Given the description of an element on the screen output the (x, y) to click on. 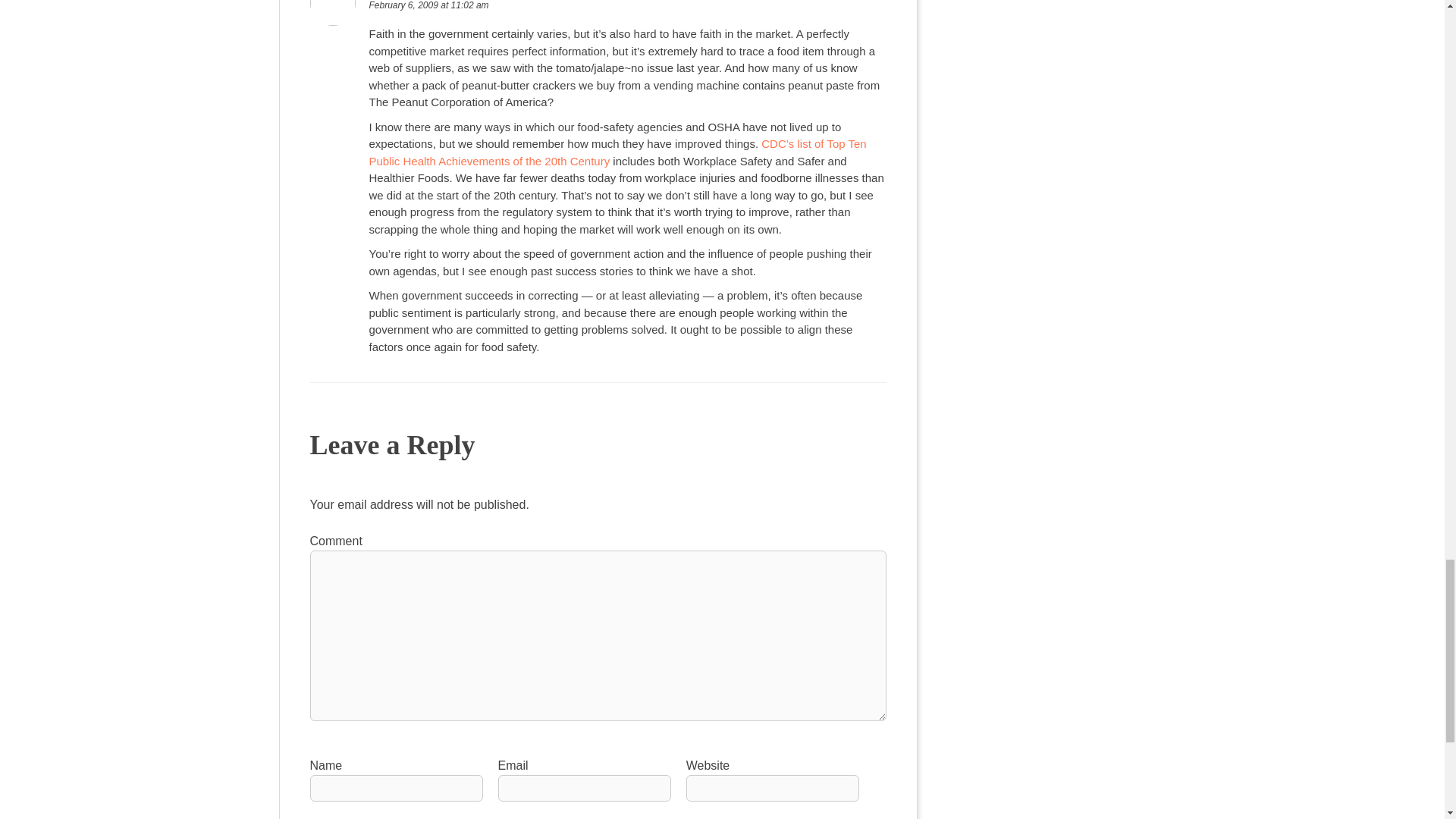
February 6, 2009 at 11:02 am (427, 5)
